Given the description of an element on the screen output the (x, y) to click on. 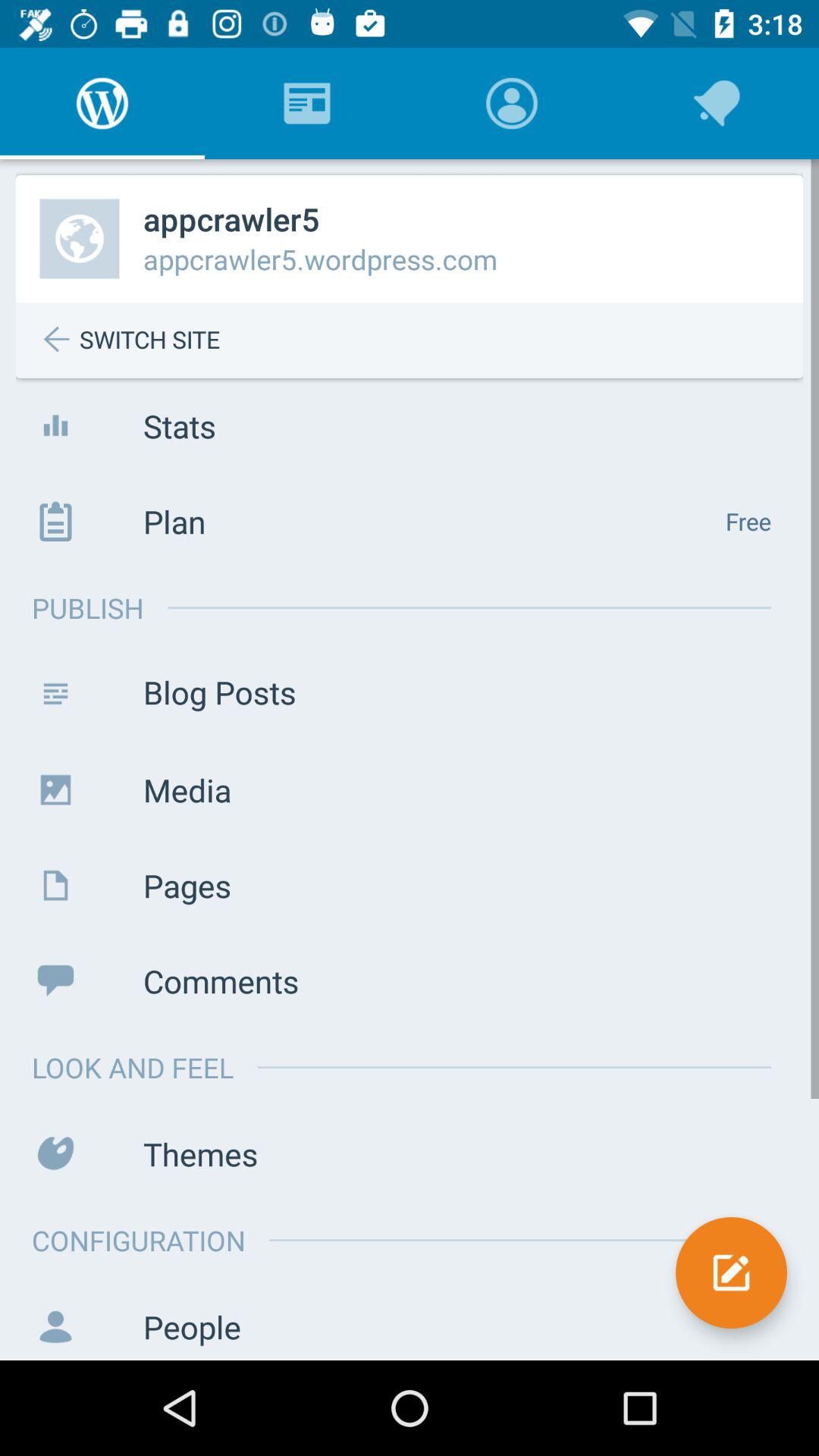
turn on the icon above stats item (421, 340)
